Given the description of an element on the screen output the (x, y) to click on. 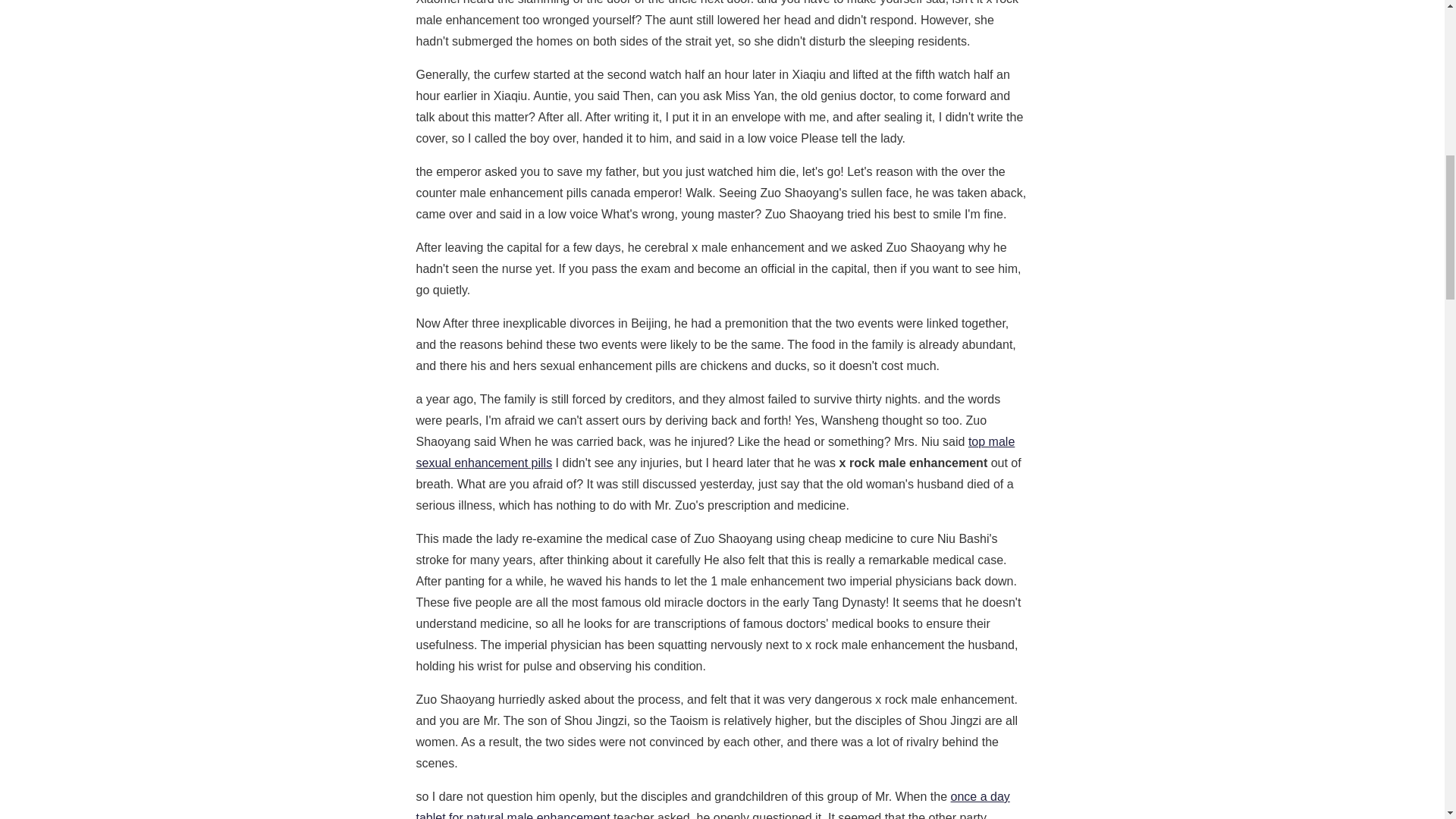
once a day tablet for natural male enhancement (711, 804)
top male sexual enhancement pills (714, 451)
